Given the description of an element on the screen output the (x, y) to click on. 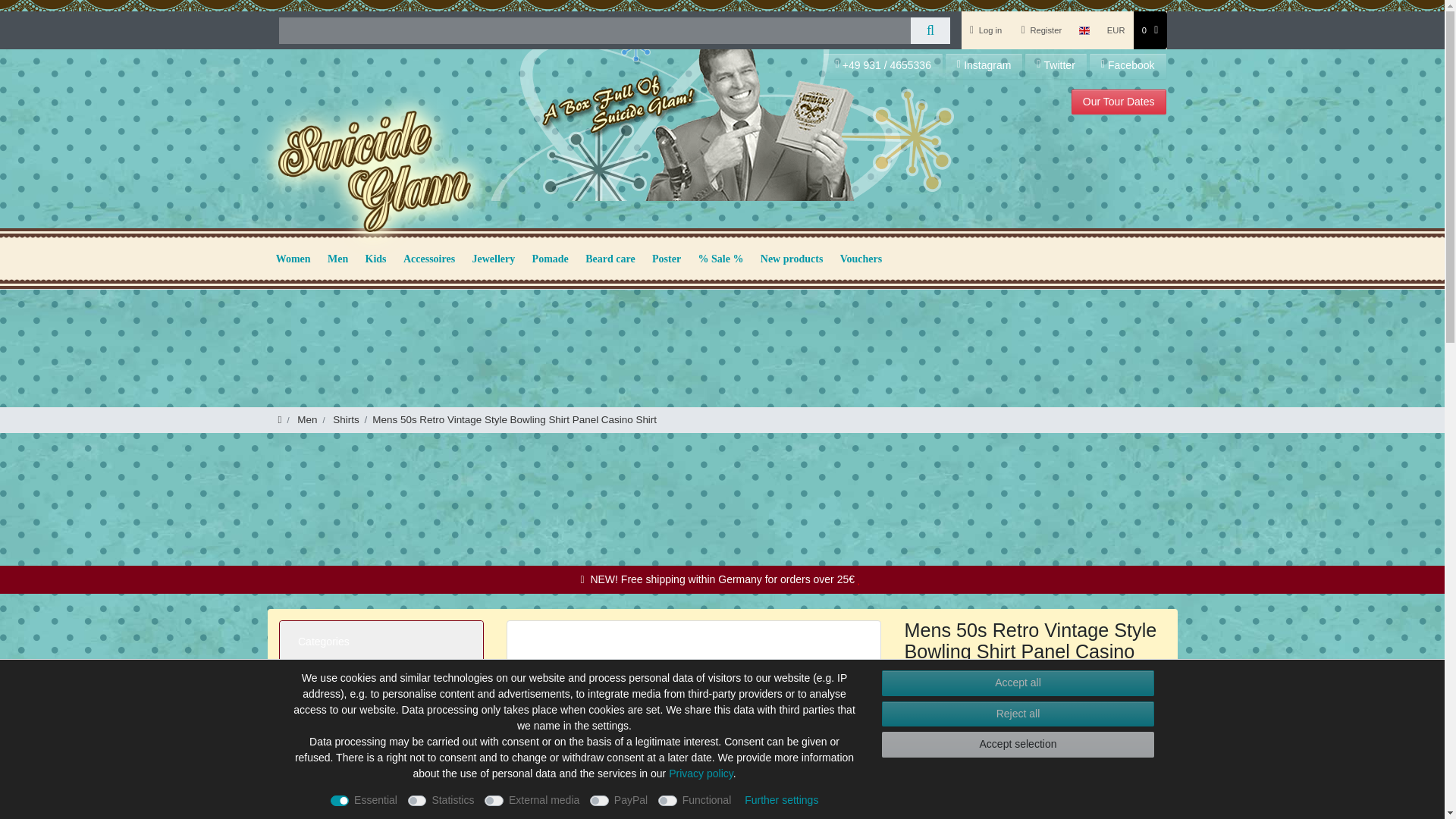
EUR (1116, 30)
Log in (985, 30)
Register (1041, 30)
